Given the description of an element on the screen output the (x, y) to click on. 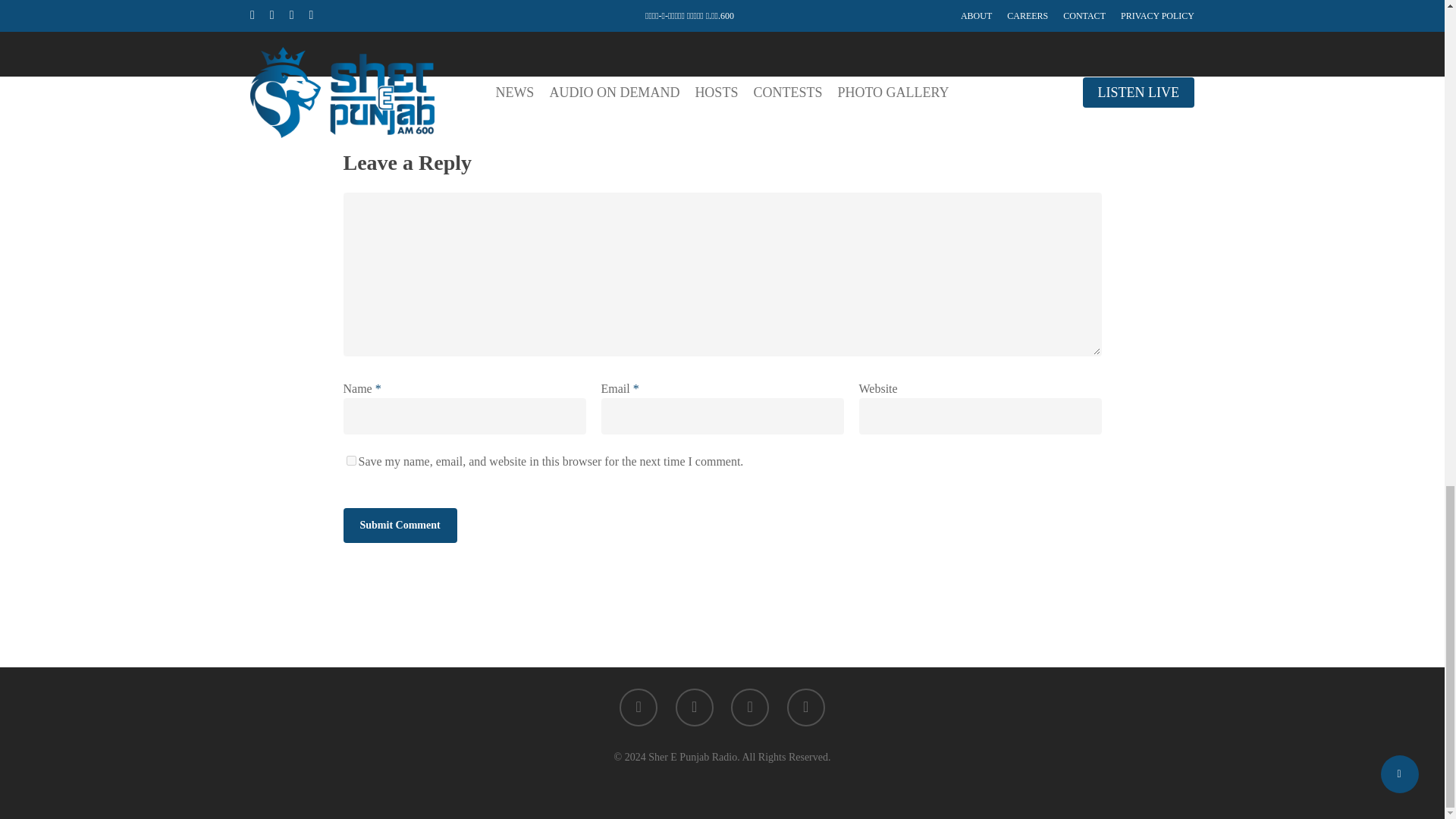
Submit Comment (399, 524)
yes (350, 460)
Submit Comment (399, 524)
